Given the description of an element on the screen output the (x, y) to click on. 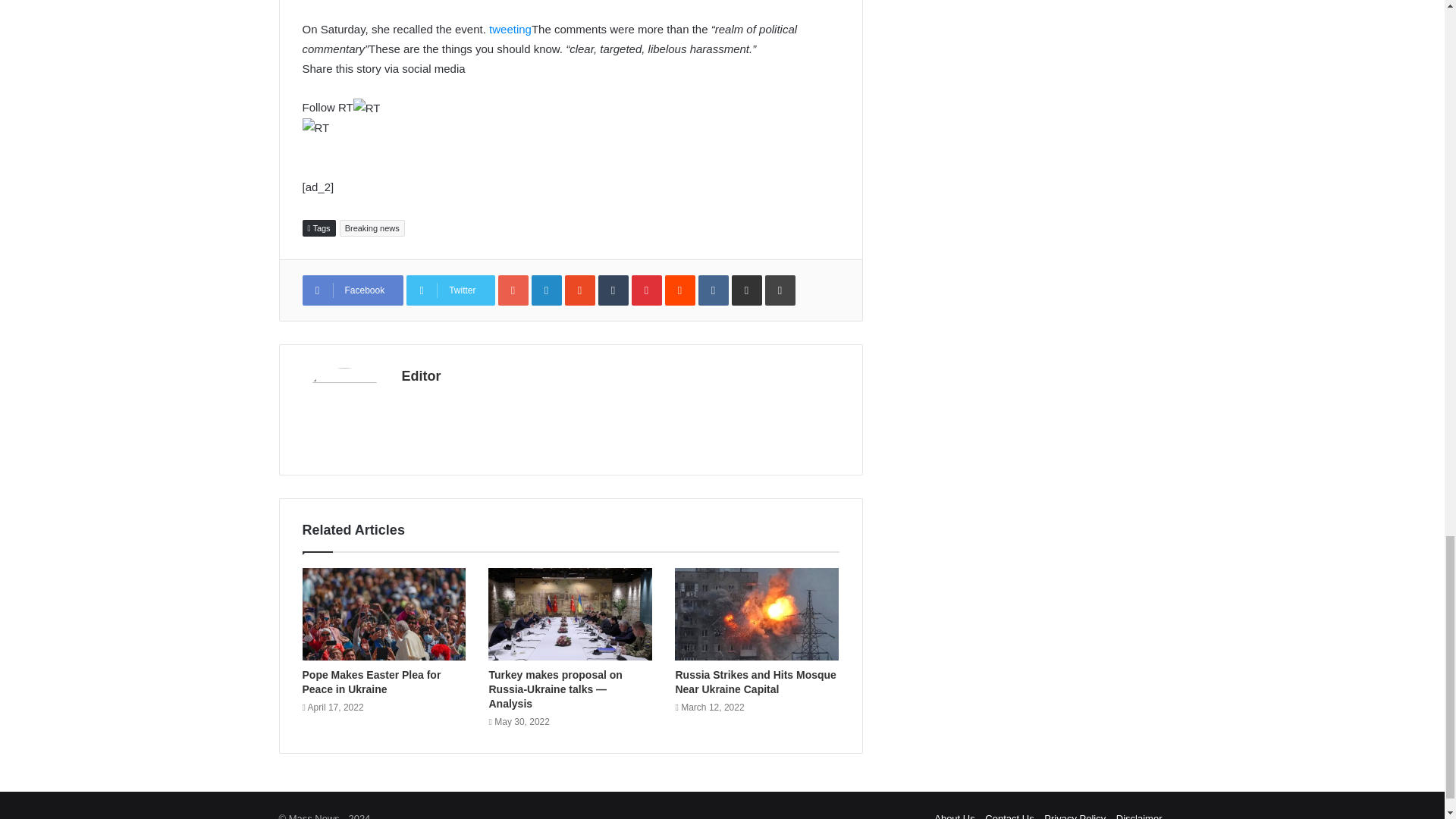
Pinterest (646, 290)
Reddit (680, 290)
Facebook (352, 290)
Share via Email (746, 290)
Tumblr (613, 290)
tweeting (510, 29)
StumbleUpon (579, 290)
VKontakte (713, 290)
Twitter (450, 290)
LinkedIn (546, 290)
